Given the description of an element on the screen output the (x, y) to click on. 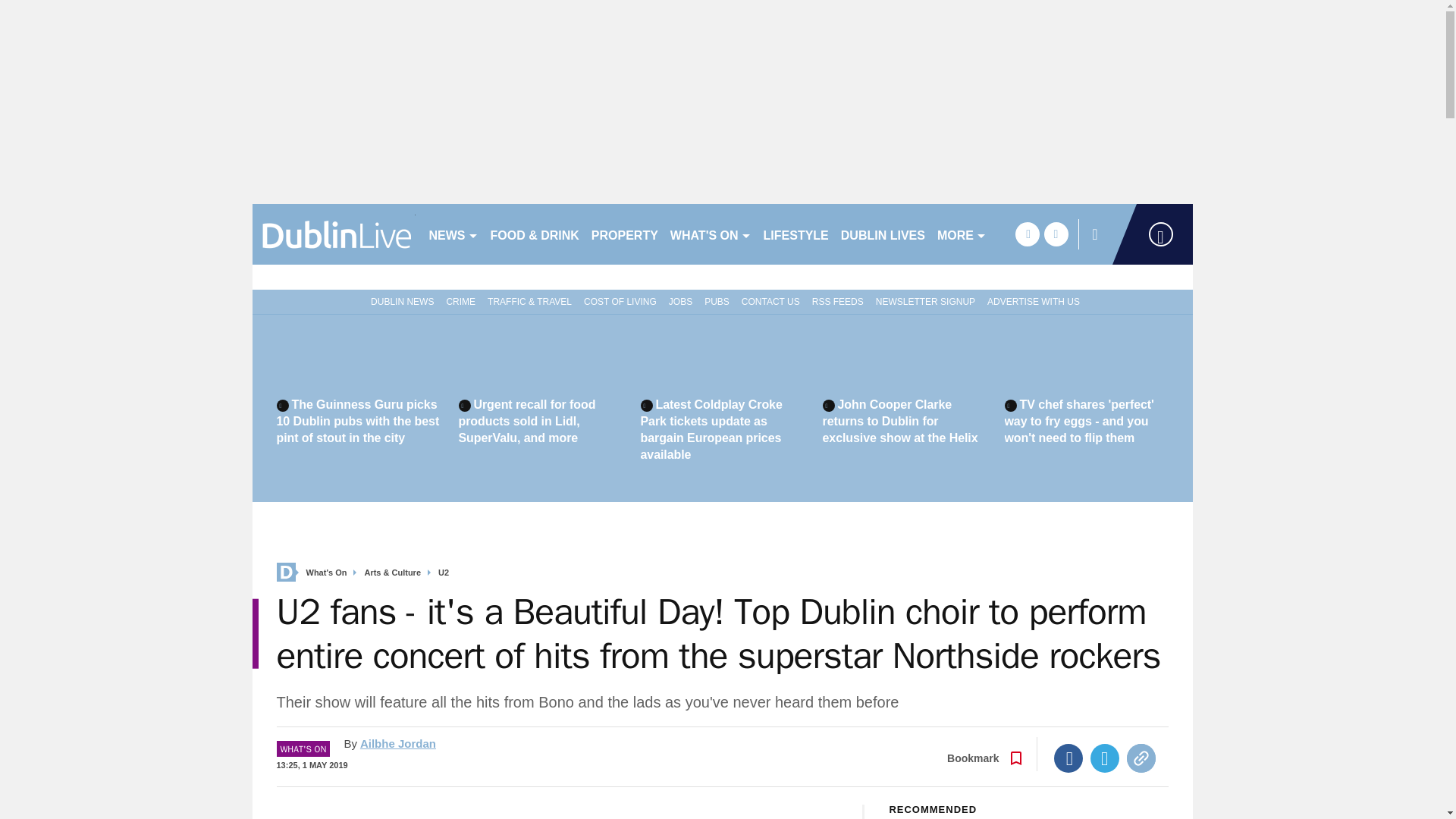
PROPERTY (624, 233)
NEWS (453, 233)
twitter (1055, 233)
MORE (961, 233)
dublinlive (332, 233)
facebook (1026, 233)
LIFESTYLE (795, 233)
DUBLIN LIVES (882, 233)
WHAT'S ON (710, 233)
Twitter (1104, 758)
